Given the description of an element on the screen output the (x, y) to click on. 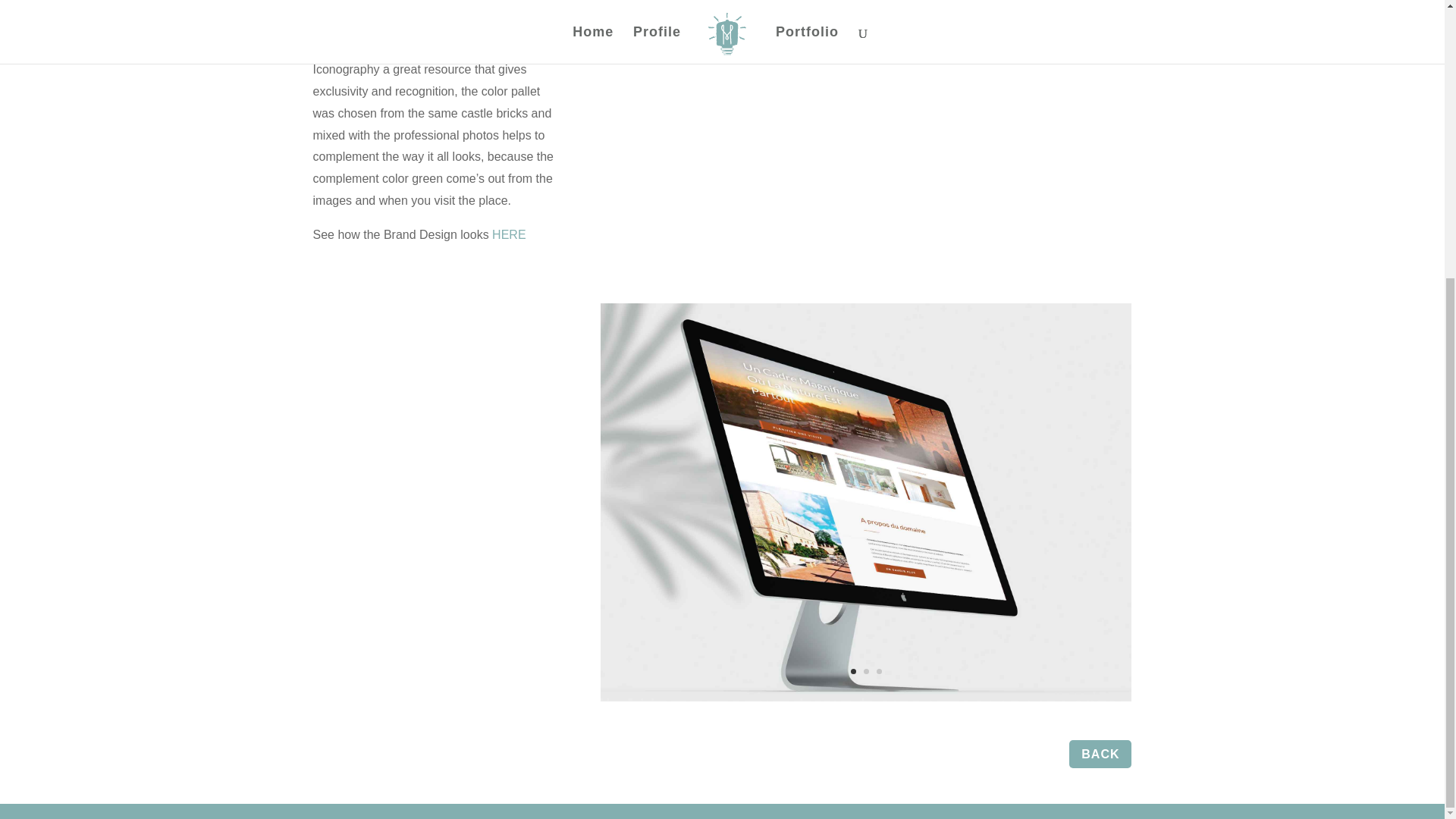
ux-ui-designer-web-interaction-morrizpelaez (865, 701)
BACK (1099, 754)
HERE (508, 234)
